Given the description of an element on the screen output the (x, y) to click on. 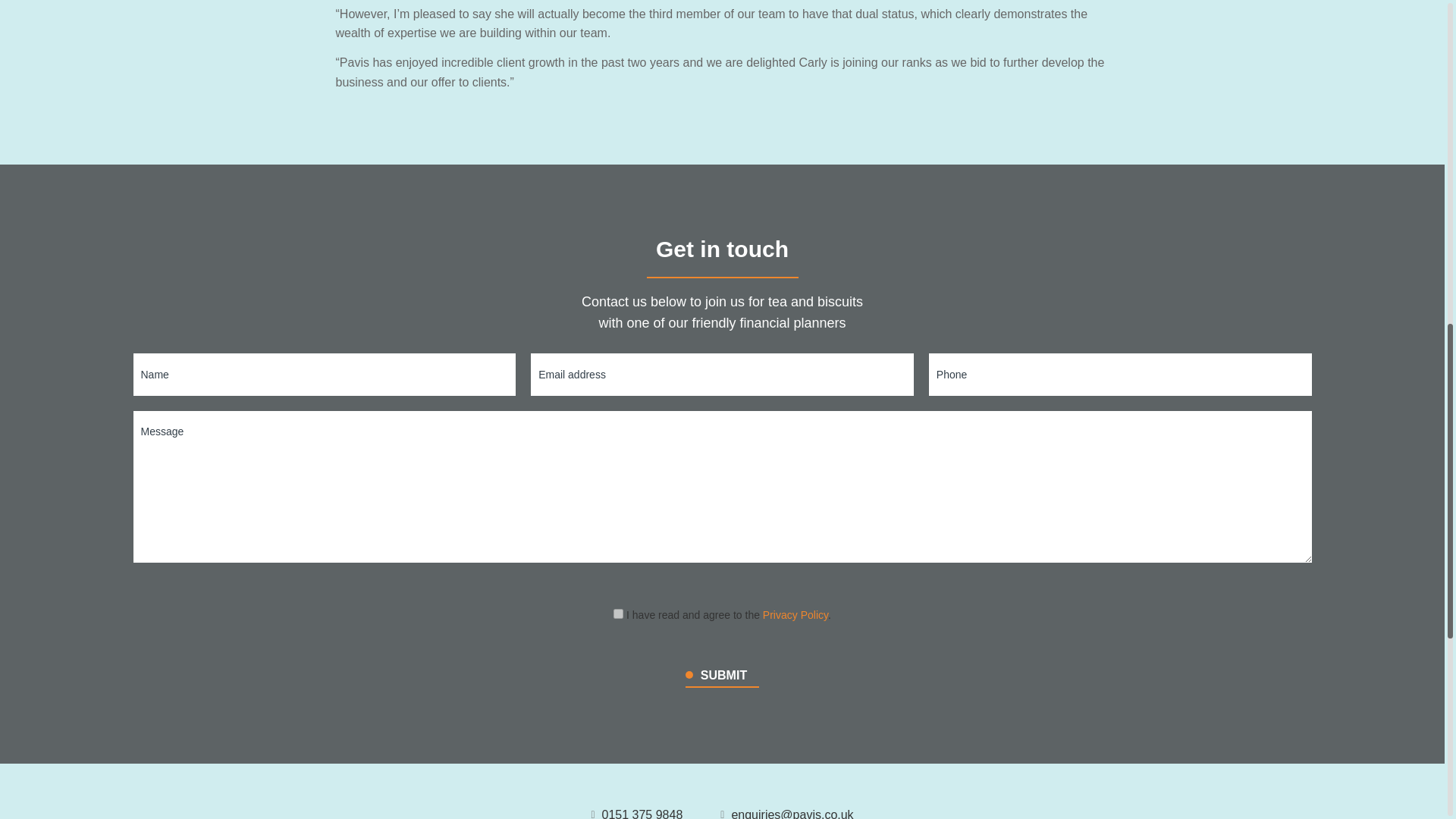
1 (617, 614)
